Given the description of an element on the screen output the (x, y) to click on. 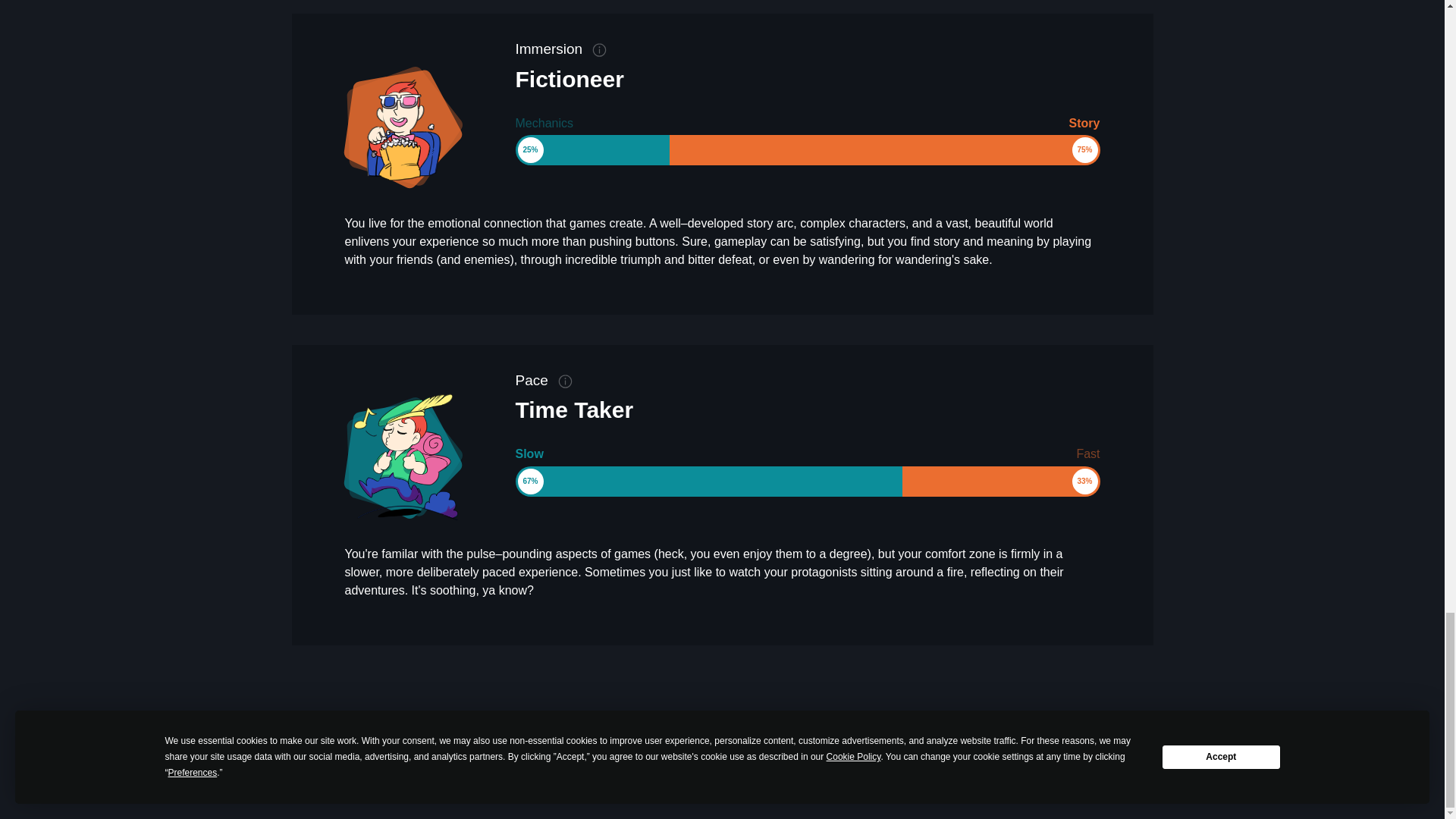
Cookie Policy (771, 758)
Disclaimer (832, 758)
Terms of Use (900, 758)
Privacy Policy (700, 758)
